Given the description of an element on the screen output the (x, y) to click on. 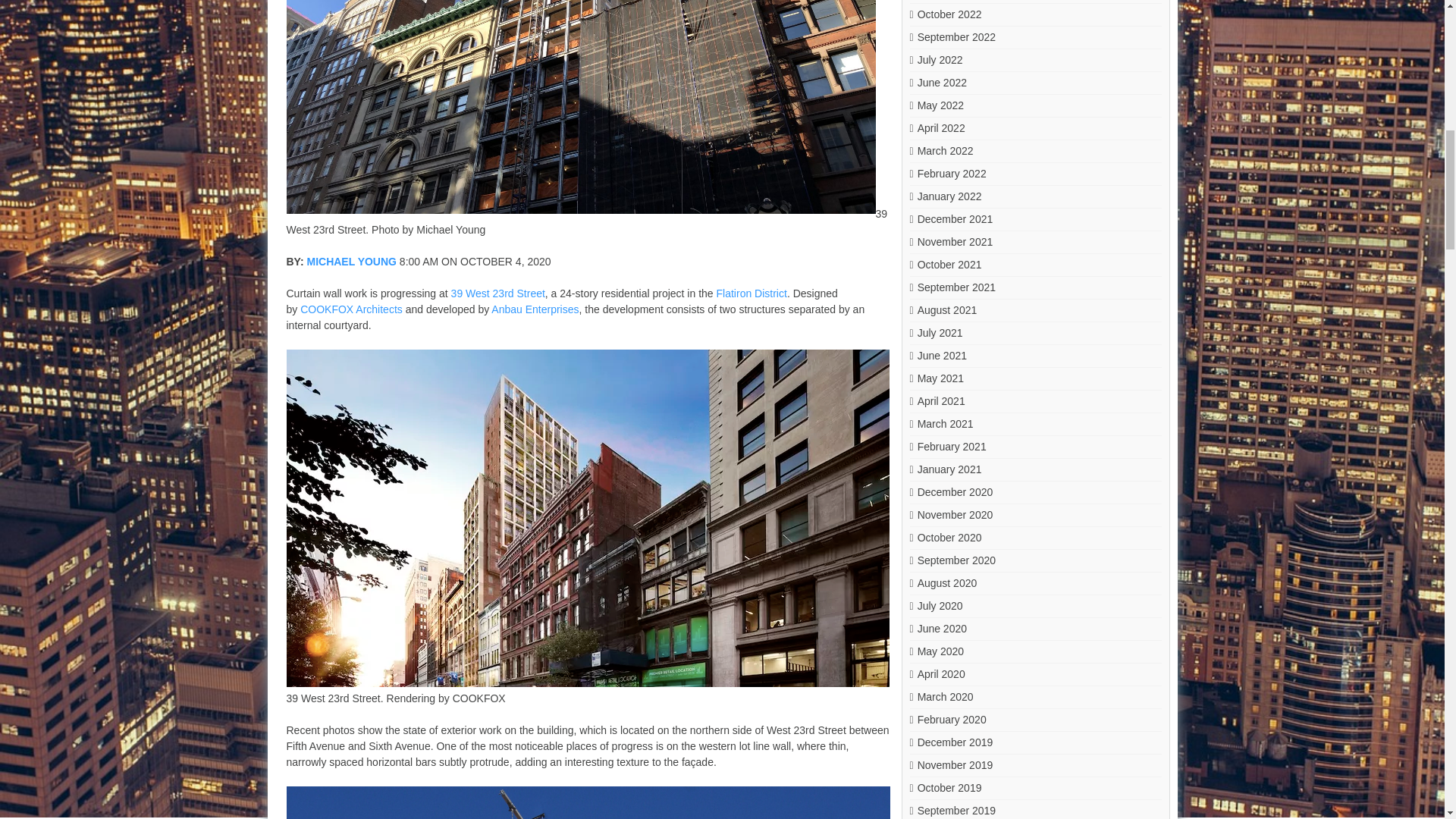
39 West 23rd Street (497, 293)
Flatiron District (751, 293)
MICHAEL YOUNG (350, 261)
Anbau Enterprises (535, 309)
COOKFOX Architects (351, 309)
